Given the description of an element on the screen output the (x, y) to click on. 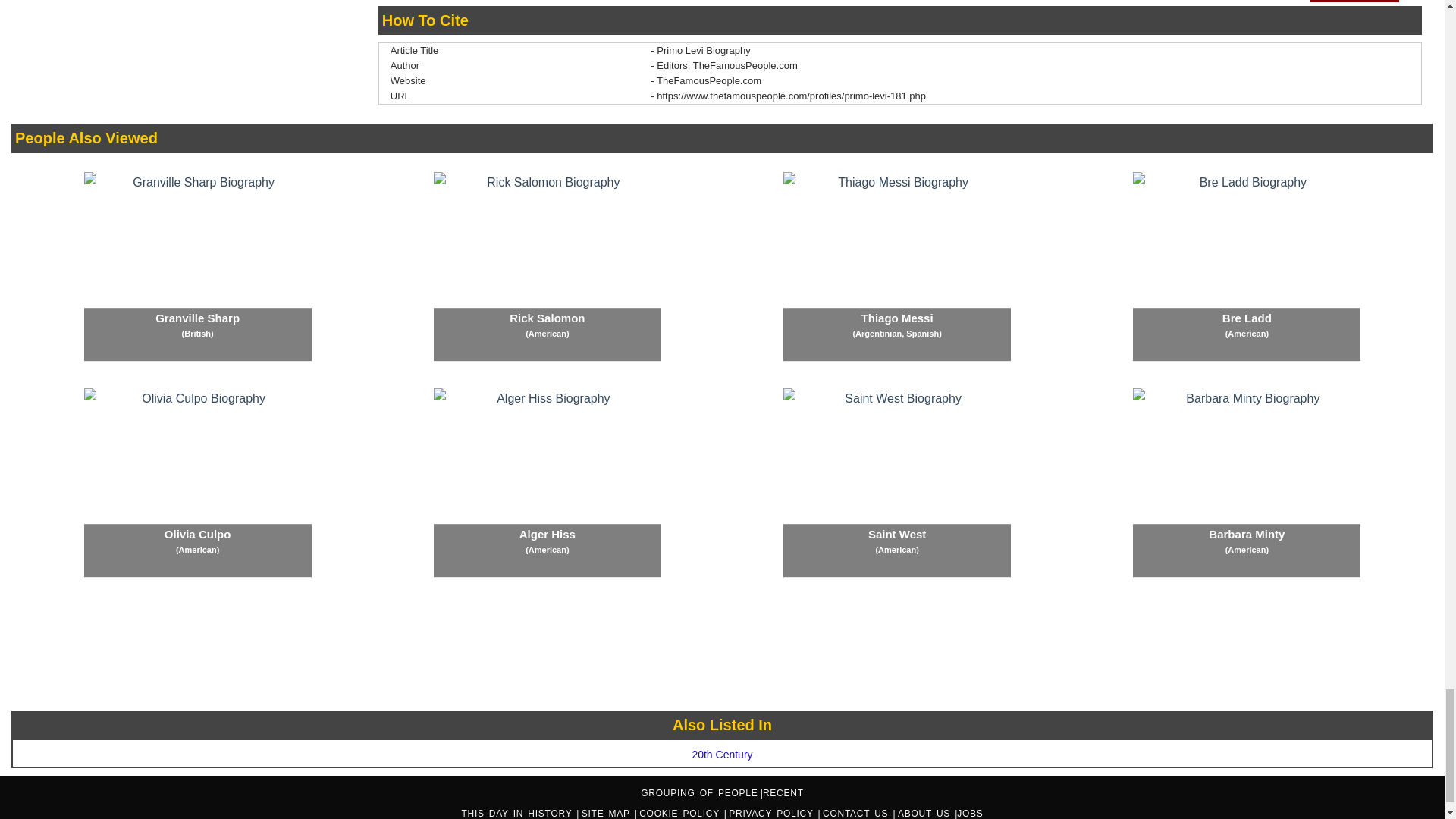
Bre Ladd (1245, 266)
Granville Sharp (197, 266)
Olivia Culpo (197, 483)
Thiago Messi (896, 266)
Saint West (896, 483)
Barbara Minty (1245, 483)
Alger Hiss (547, 483)
Rick Salomon (547, 266)
